Given the description of an element on the screen output the (x, y) to click on. 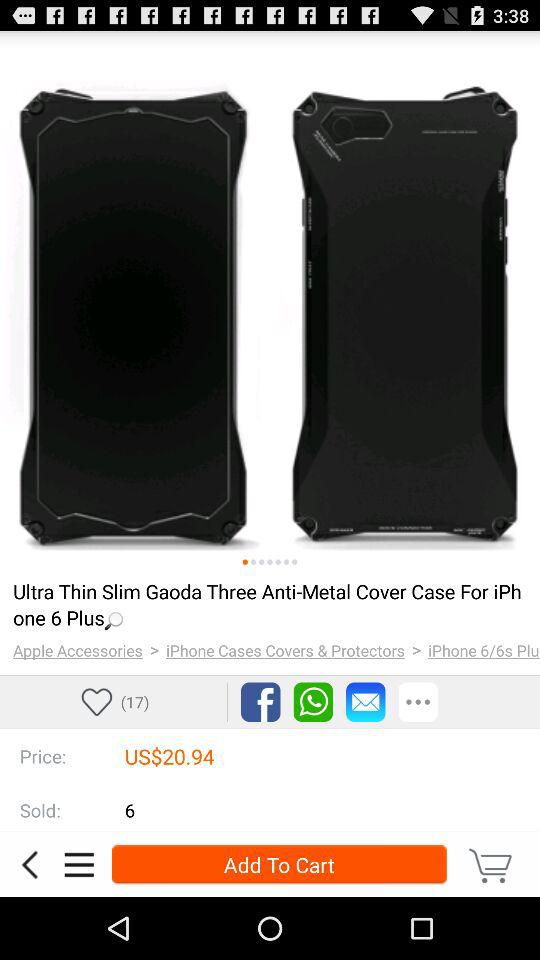
turn off item next to the > (484, 650)
